Given the description of an element on the screen output the (x, y) to click on. 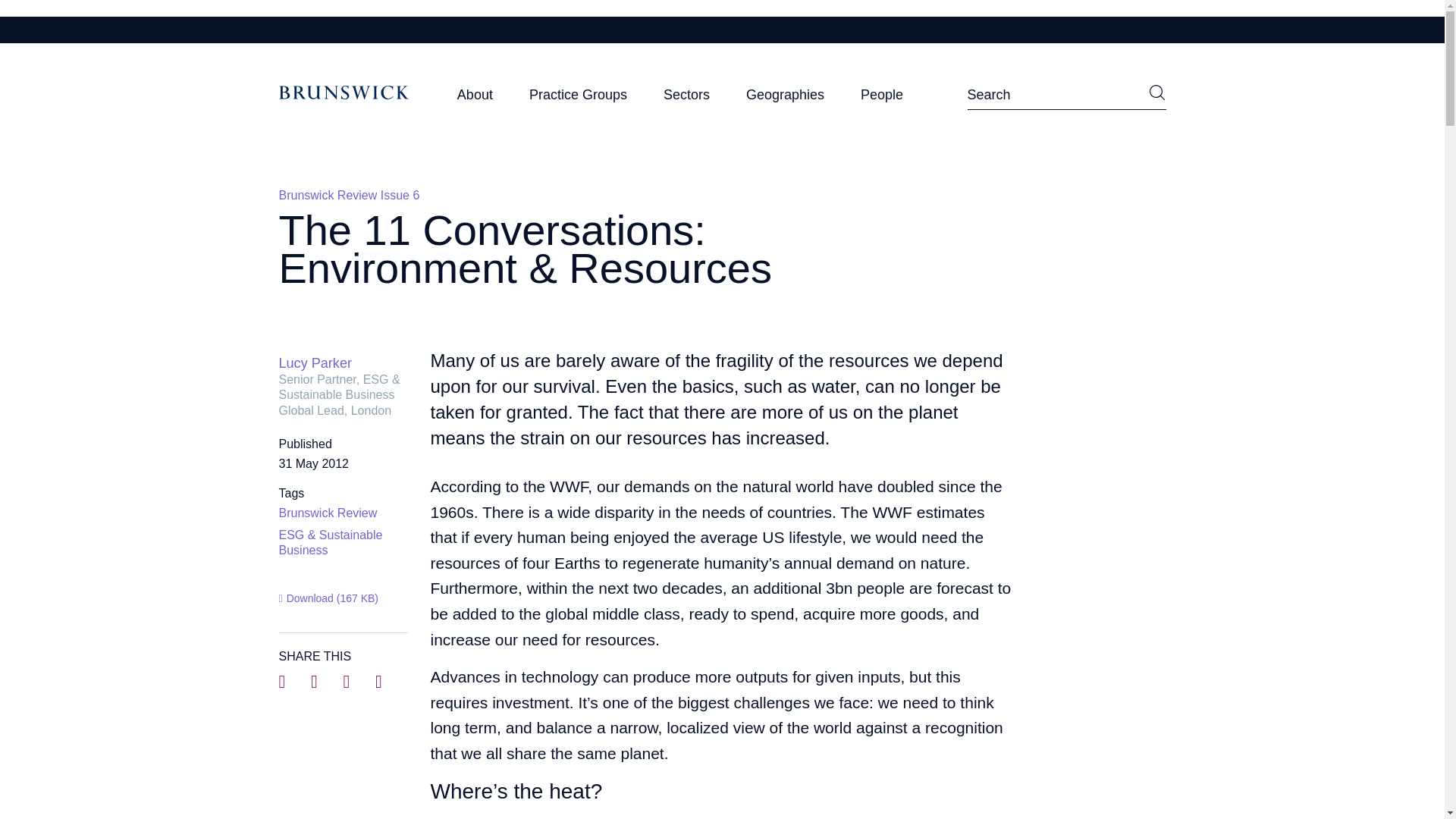
Sectors (686, 97)
About (474, 97)
Practice Groups (577, 97)
About (474, 97)
Practice Groups (577, 97)
